Given the description of an element on the screen output the (x, y) to click on. 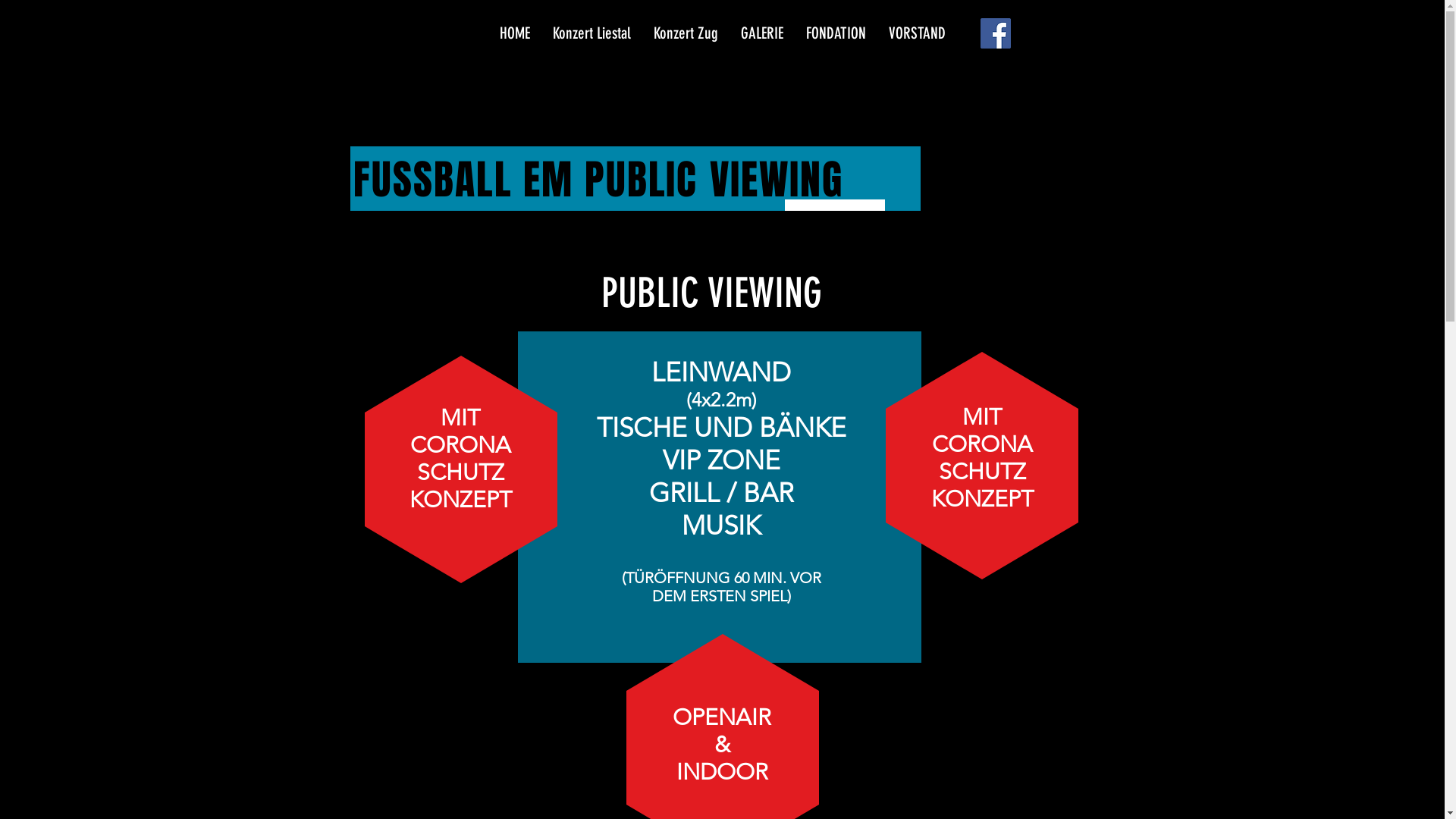
Konzert Liestal Element type: text (591, 33)
VORSTAND Element type: text (916, 33)
HOME Element type: text (514, 33)
Konzert Zug Element type: text (684, 33)
FONDATION Element type: text (835, 33)
GALERIE Element type: text (761, 33)
